Given the description of an element on the screen output the (x, y) to click on. 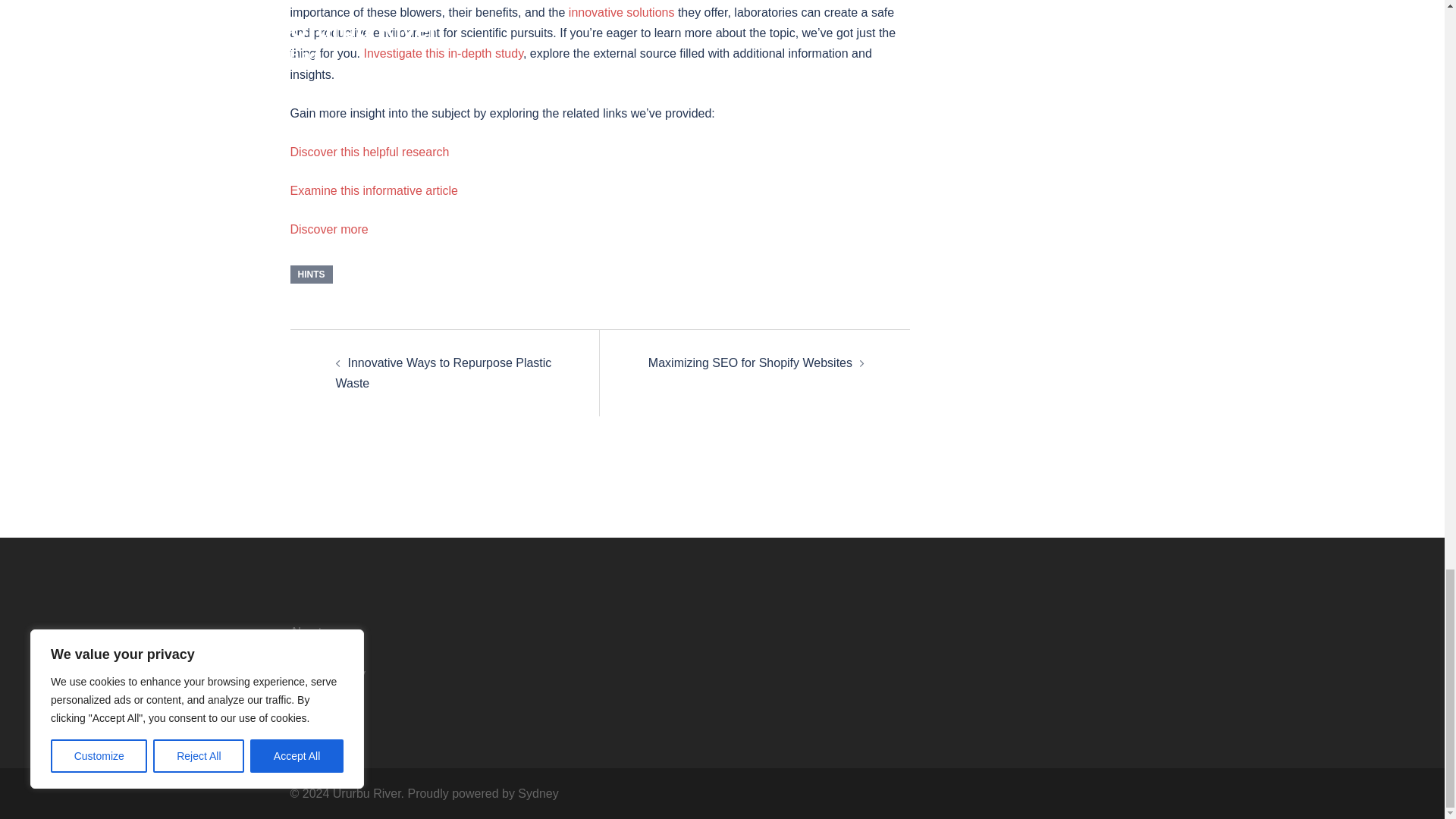
Discover more (328, 228)
Maximizing SEO for Shopify Websites (749, 362)
Discover this helpful research (368, 151)
HINTS (310, 274)
Examine this informative article (373, 190)
innovative solutions (622, 11)
Innovative Ways to Repurpose Plastic Waste (442, 372)
Investigate this in-depth study (442, 52)
